Given the description of an element on the screen output the (x, y) to click on. 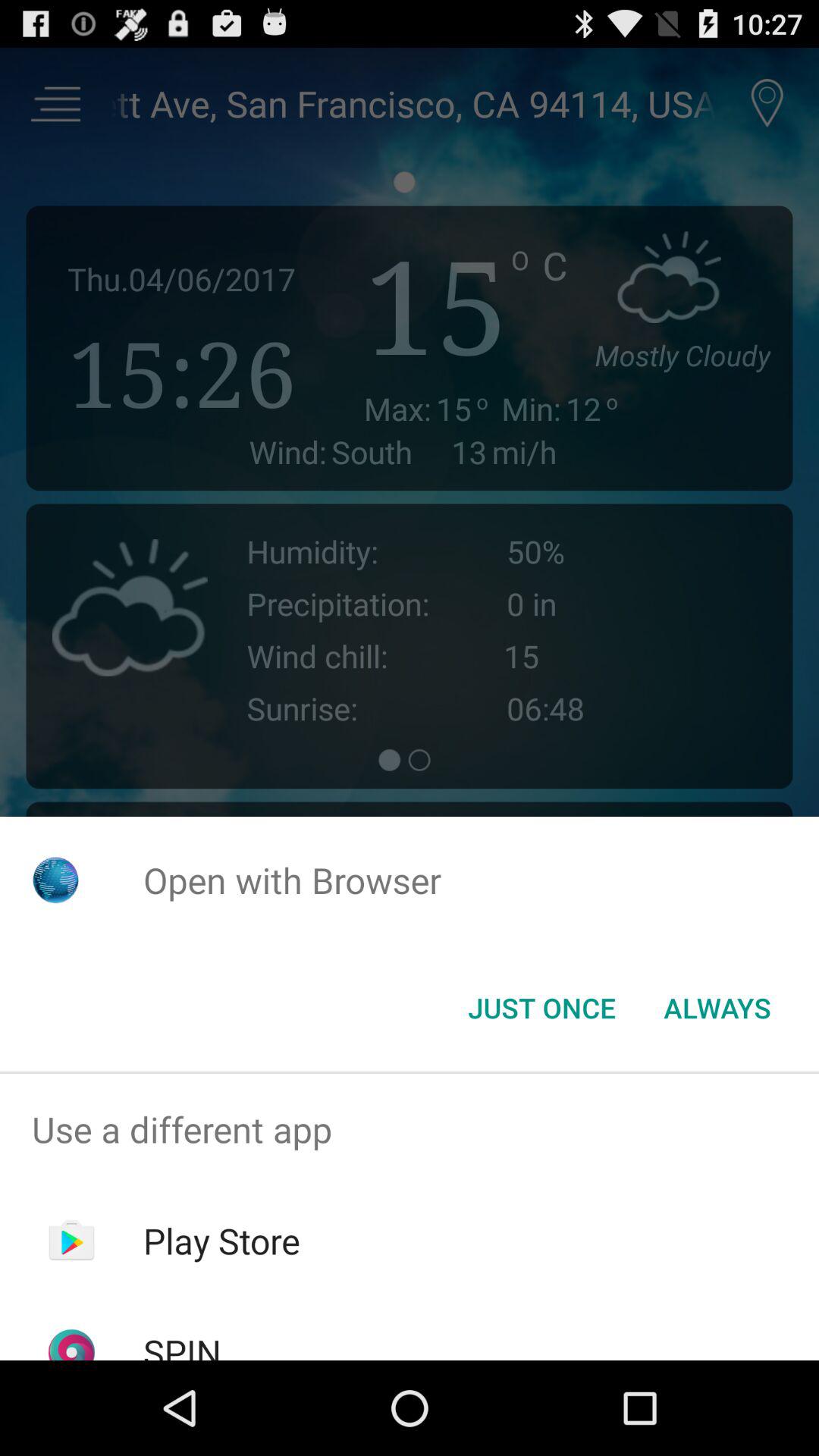
press the button at the bottom right corner (717, 1007)
